Given the description of an element on the screen output the (x, y) to click on. 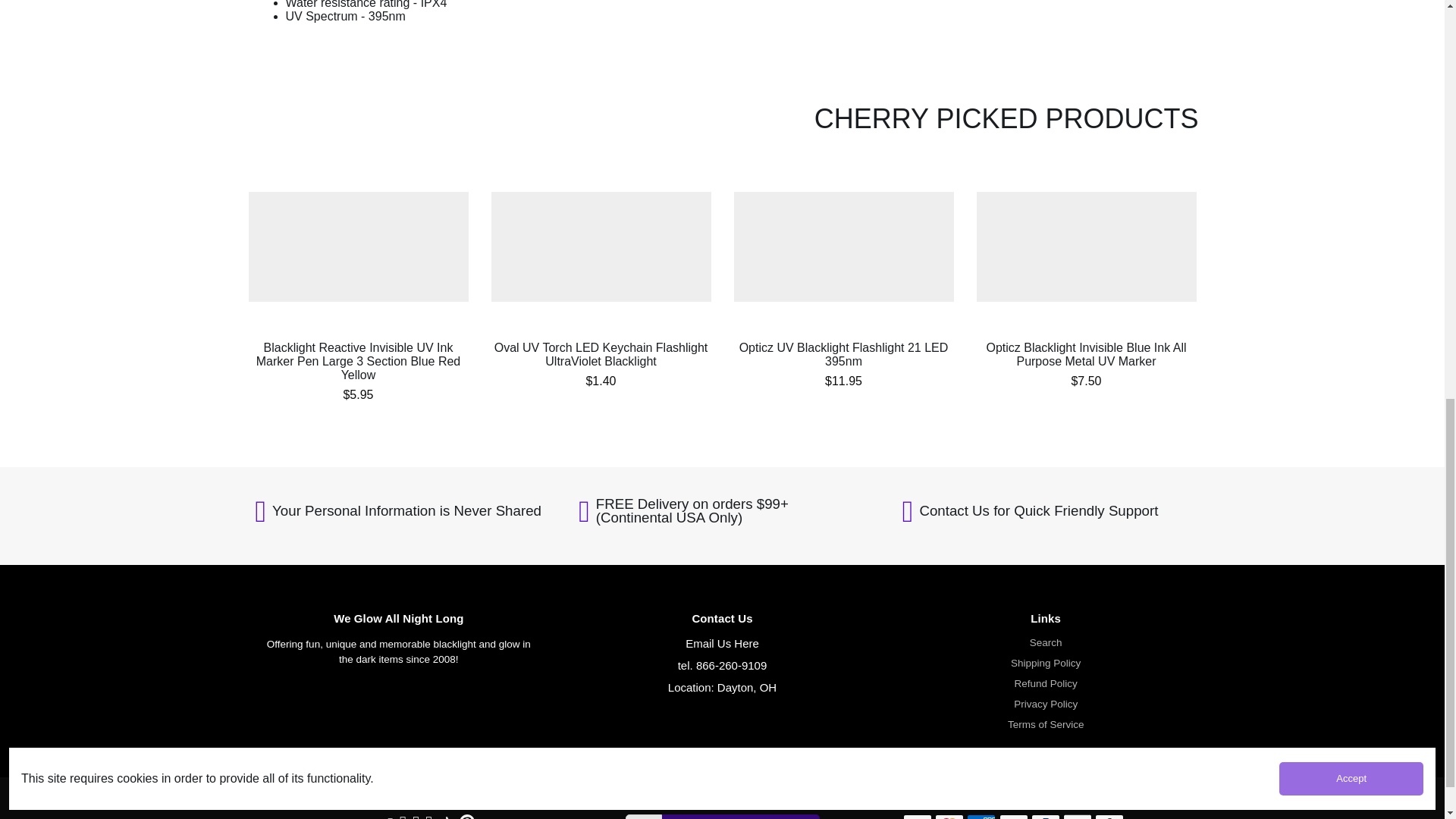
Amazon (1109, 816)
American Express (980, 816)
Mastercard (948, 816)
Apple Pay (1077, 816)
Discover (1012, 816)
PayPal (1044, 816)
Visa (916, 816)
